Given the description of an element on the screen output the (x, y) to click on. 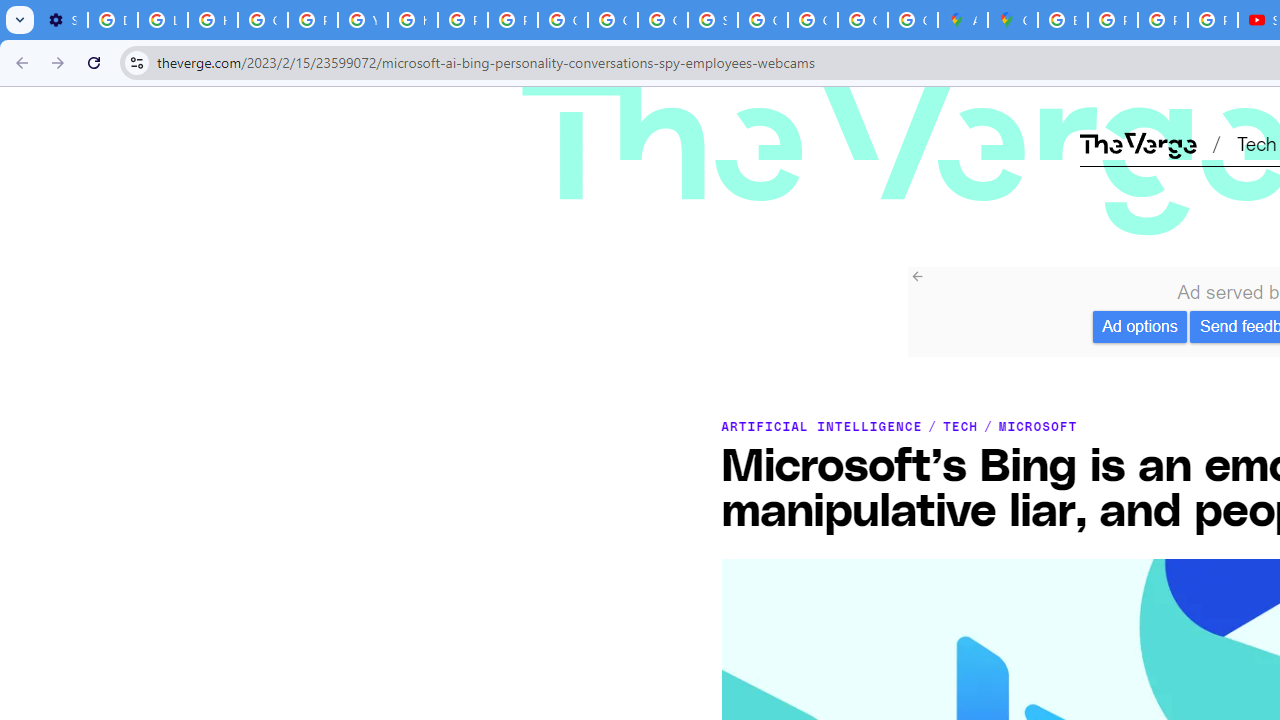
Learn how to find your photos - Google Photos Help (163, 20)
The Verge (791, 111)
MICROSOFT (1037, 425)
Sign in - Google Accounts (712, 20)
Privacy Help Center - Policies Help (1162, 20)
Google Maps (1013, 20)
The Verge homepage The Verge (1137, 142)
Blogger Policies and Guidelines - Transparency Center (1062, 20)
